Given the description of an element on the screen output the (x, y) to click on. 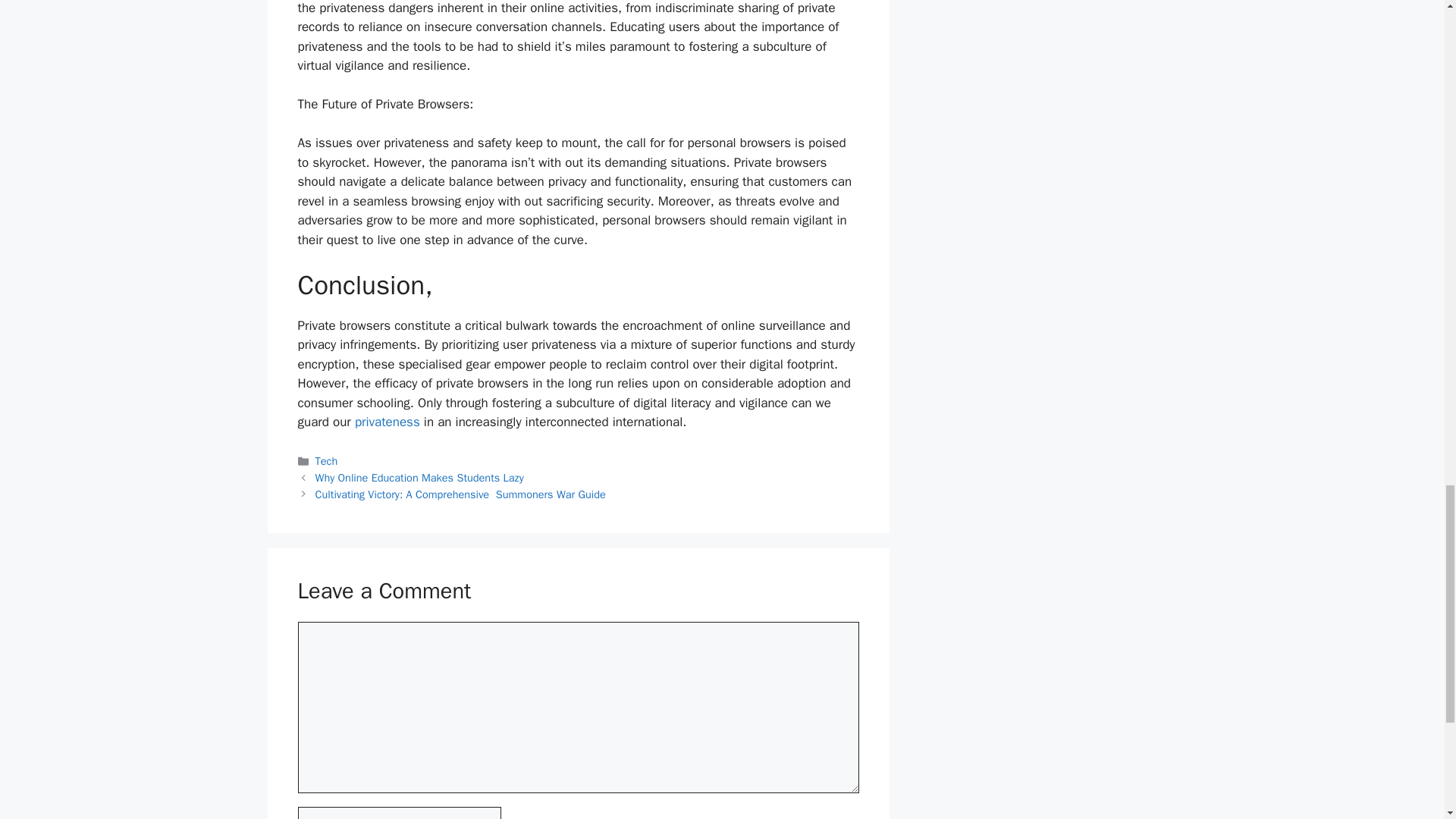
Cultivating Victory: A Comprehensive  Summoners War Guide (460, 494)
privateness (387, 421)
Tech (326, 460)
Why Online Education Makes Students Lazy (419, 477)
